Given the description of an element on the screen output the (x, y) to click on. 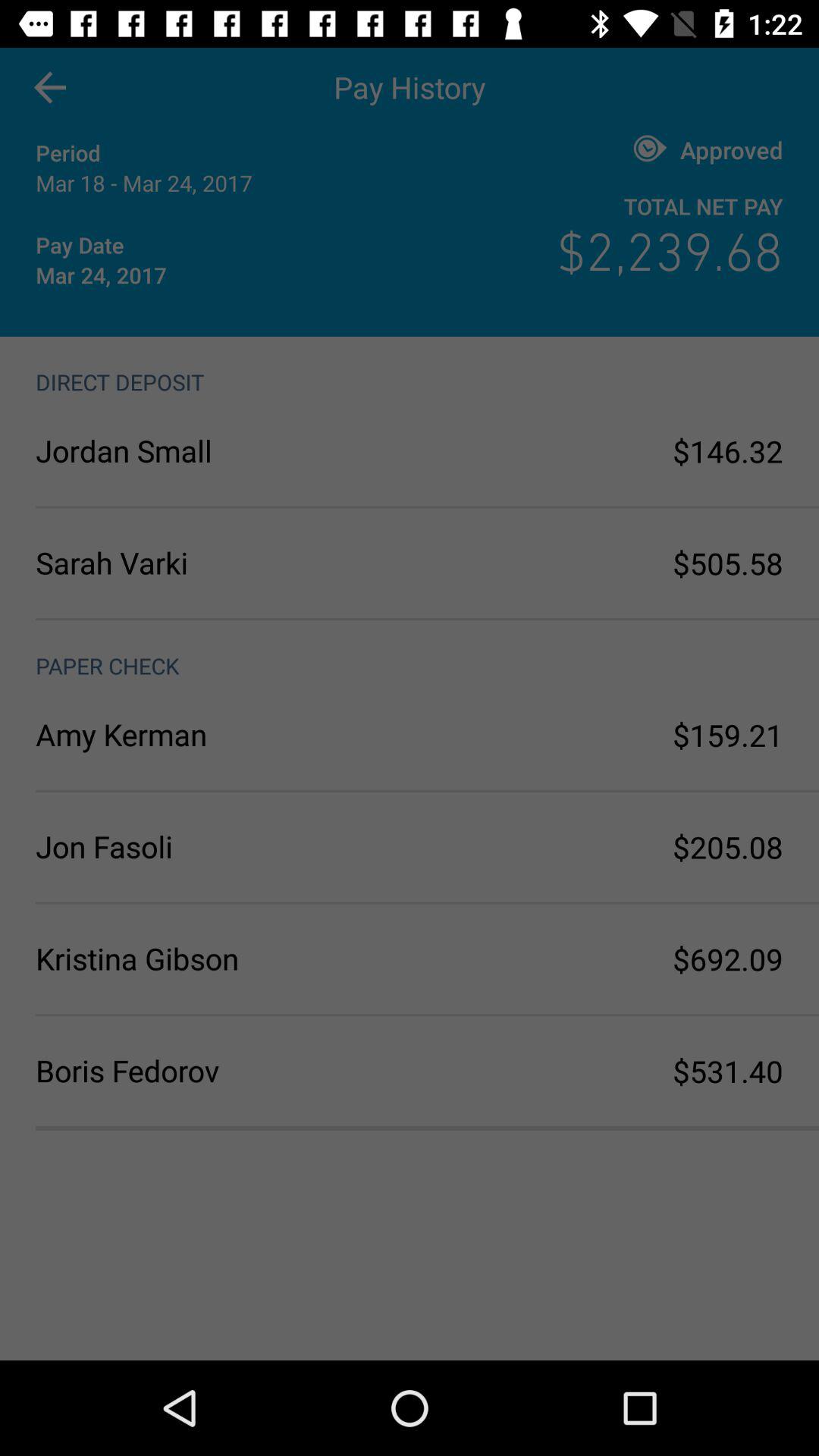
tap the item below jordan small (222, 562)
